Given the description of an element on the screen output the (x, y) to click on. 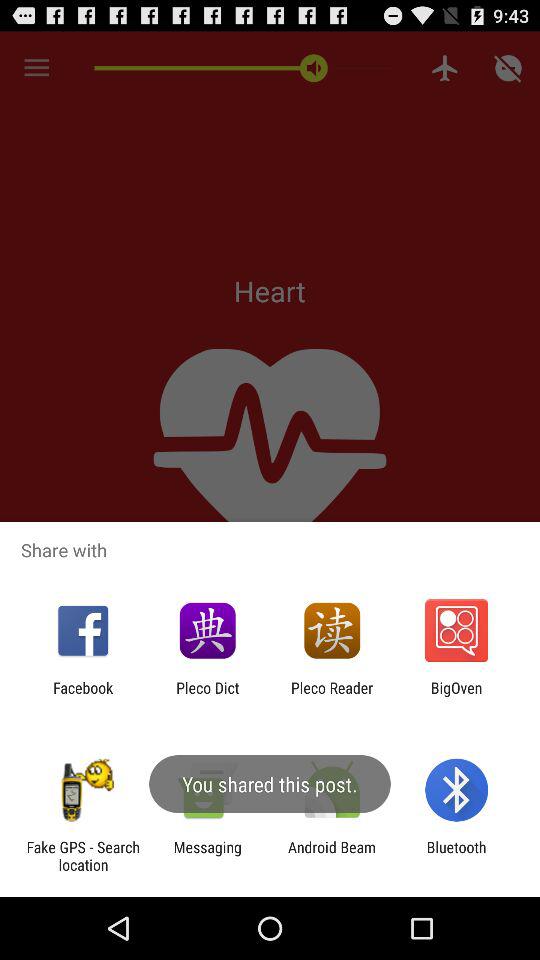
select the icon to the left of pleco reader item (207, 696)
